Given the description of an element on the screen output the (x, y) to click on. 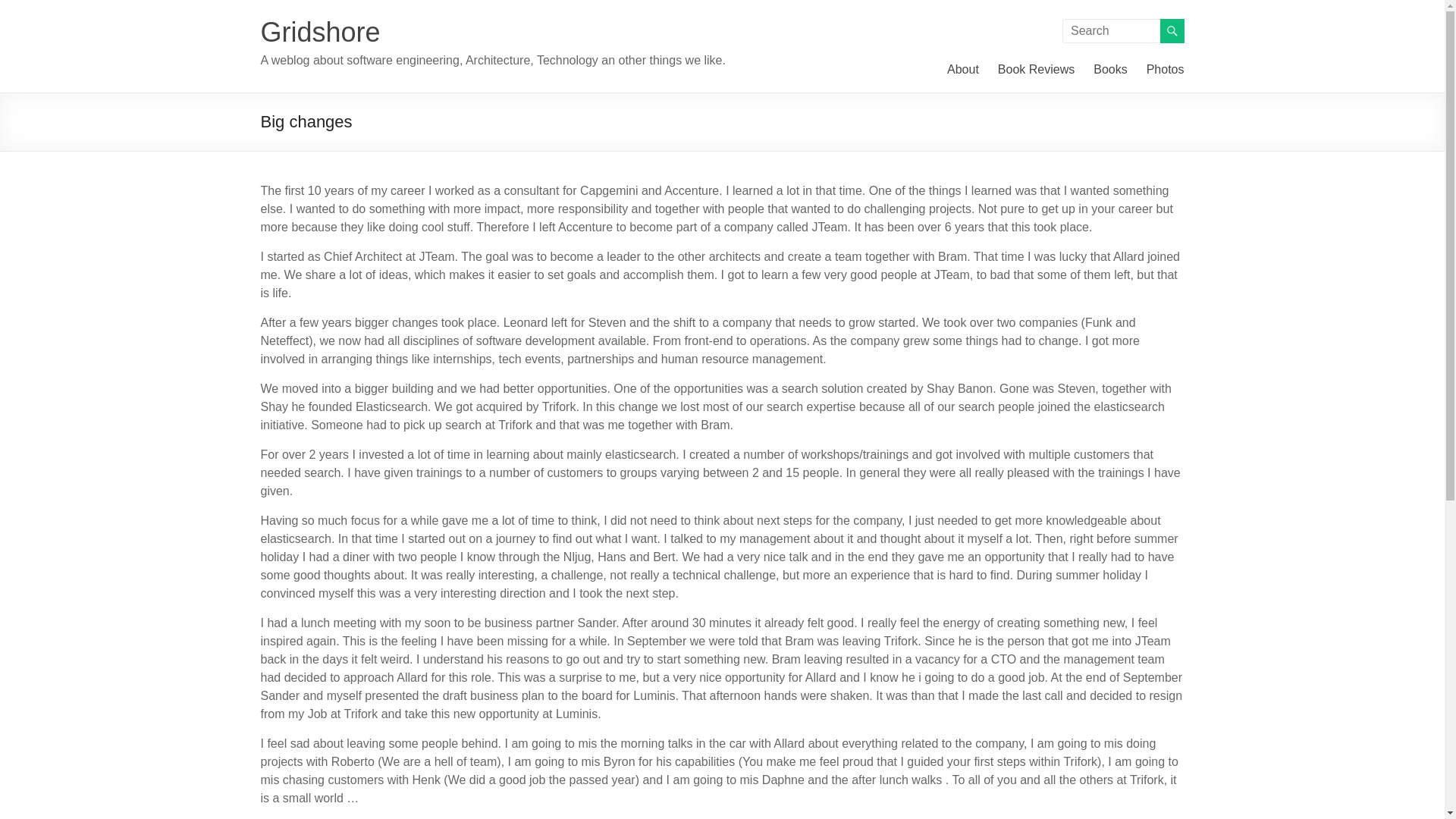
Gridshore (320, 31)
Gridshore (320, 31)
Photos (1166, 69)
Book Reviews (1035, 69)
Books (1109, 69)
About (962, 69)
